Given the description of an element on the screen output the (x, y) to click on. 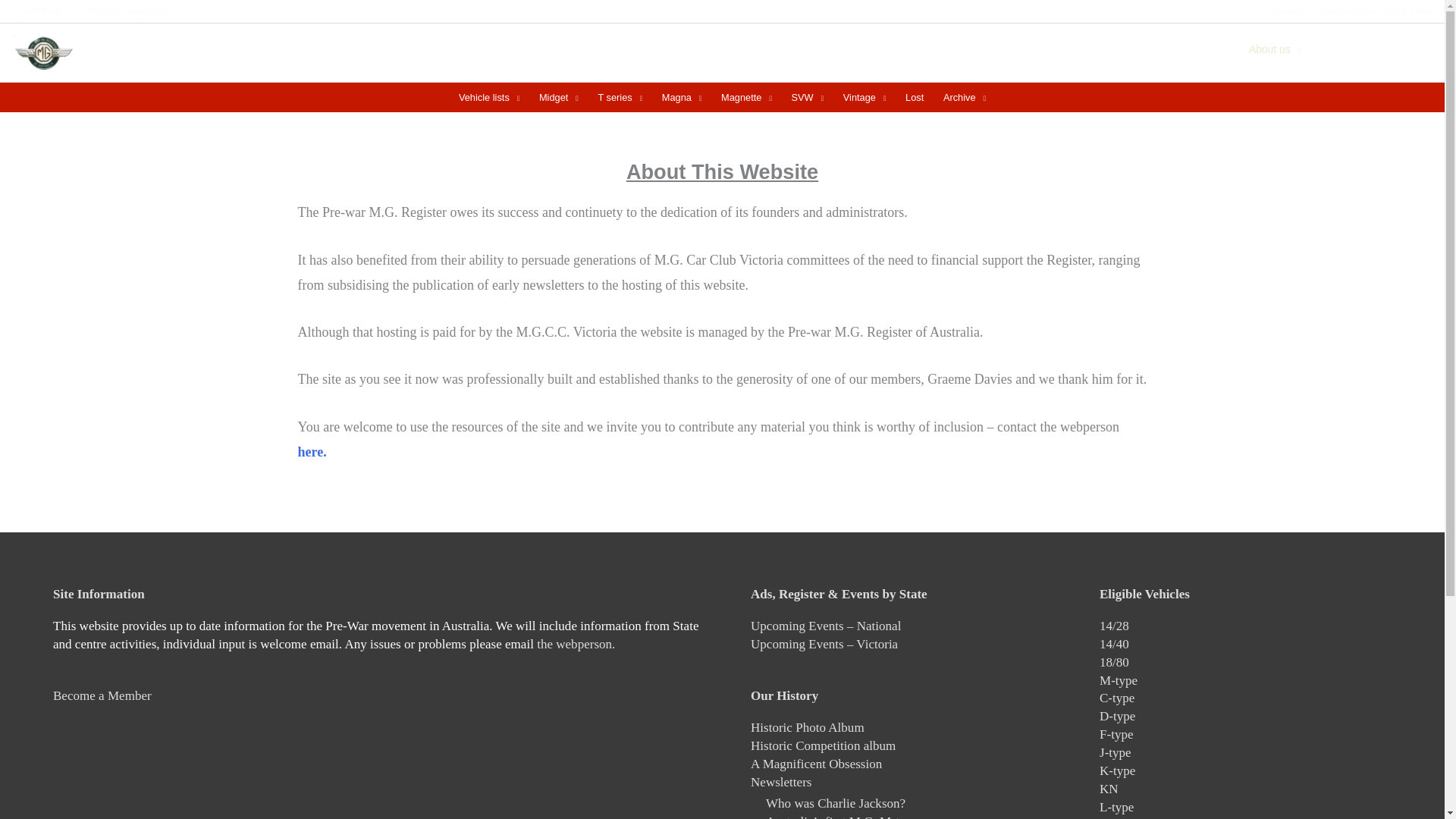
Coming events (937, 49)
Home (815, 49)
News (861, 49)
Past events (1030, 49)
